Given the description of an element on the screen output the (x, y) to click on. 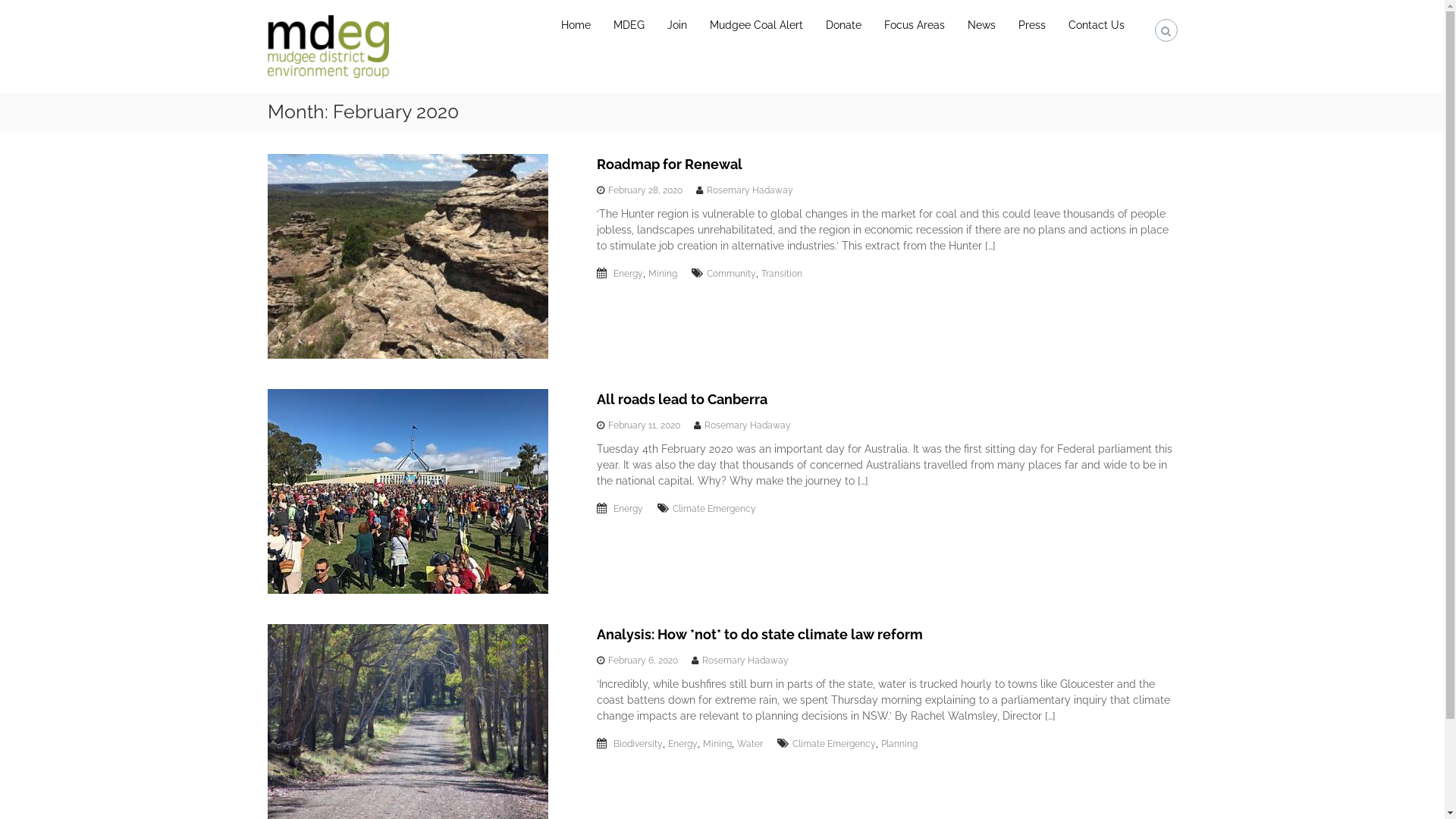
Analysis: How *not* to do state climate law reform Element type: text (759, 634)
Climate Emergency Element type: text (714, 508)
Rosemary Hadaway Element type: text (745, 660)
Contact Us Element type: text (1095, 24)
Mining Element type: text (716, 743)
Energy Element type: text (628, 508)
Rosemary Hadaway Element type: text (747, 425)
Mudgee Coal Alert Element type: text (756, 24)
February 28, 2020 Element type: text (645, 190)
Energy Element type: text (682, 743)
MDEG Element type: text (627, 24)
Water Element type: text (749, 743)
February 11, 2020 Element type: text (644, 425)
Climate Emergency Element type: text (833, 743)
Energy Element type: text (628, 273)
Rosemary Hadaway Element type: text (749, 190)
All roads lead to Canberra Element type: text (681, 399)
Join Element type: text (677, 24)
Planning Element type: text (899, 743)
Roadmap for Renewal Element type: text (669, 164)
Donate Element type: text (842, 24)
News Element type: text (981, 24)
Home Element type: text (575, 24)
Focus Areas Element type: text (914, 24)
Community Element type: text (731, 273)
Mining Element type: text (662, 273)
Press Element type: text (1030, 24)
February 6, 2020 Element type: text (642, 660)
Biodiversity Element type: text (637, 743)
Transition Element type: text (781, 273)
